Given the description of an element on the screen output the (x, y) to click on. 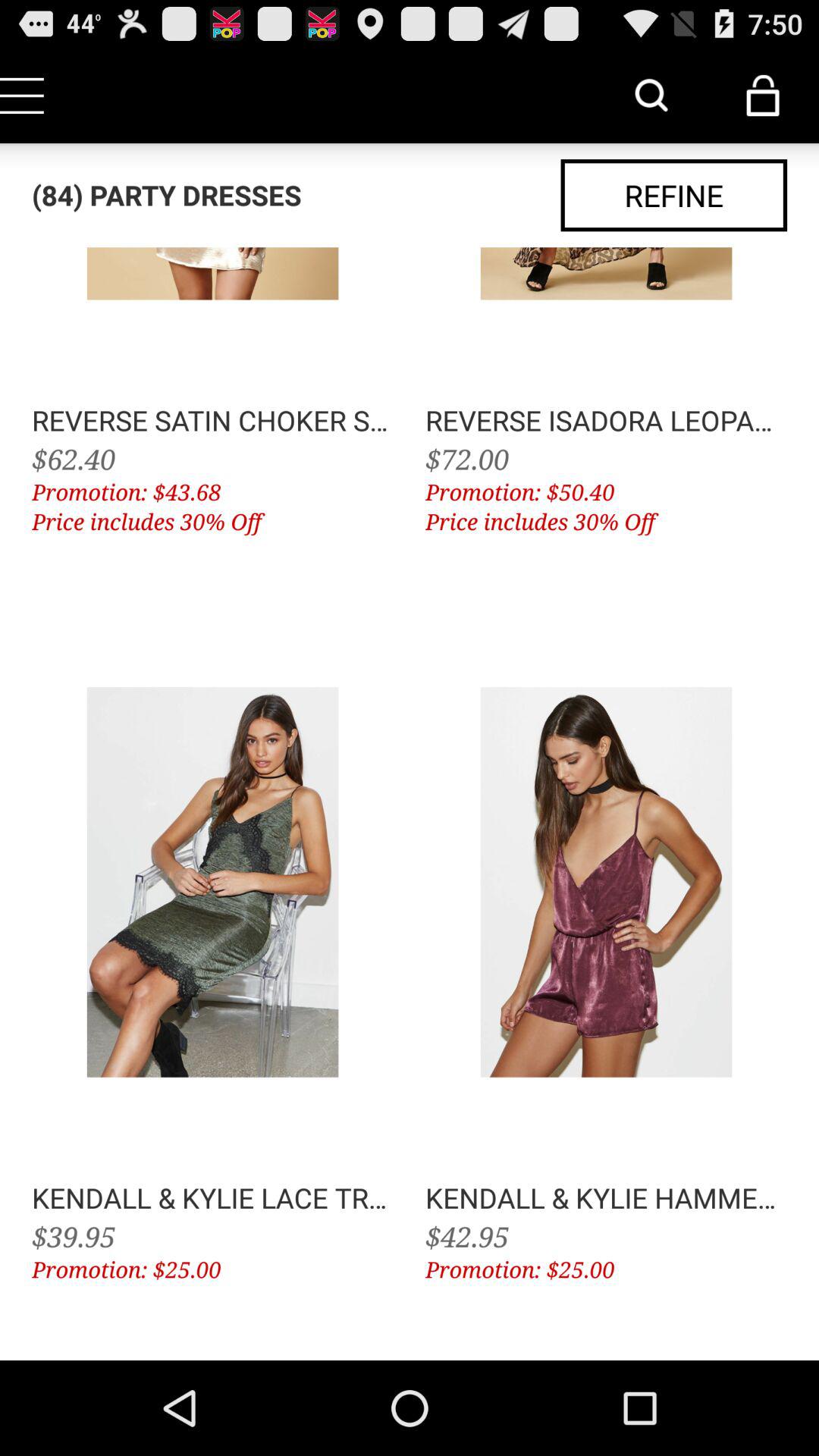
flip until refine icon (673, 195)
